Given the description of an element on the screen output the (x, y) to click on. 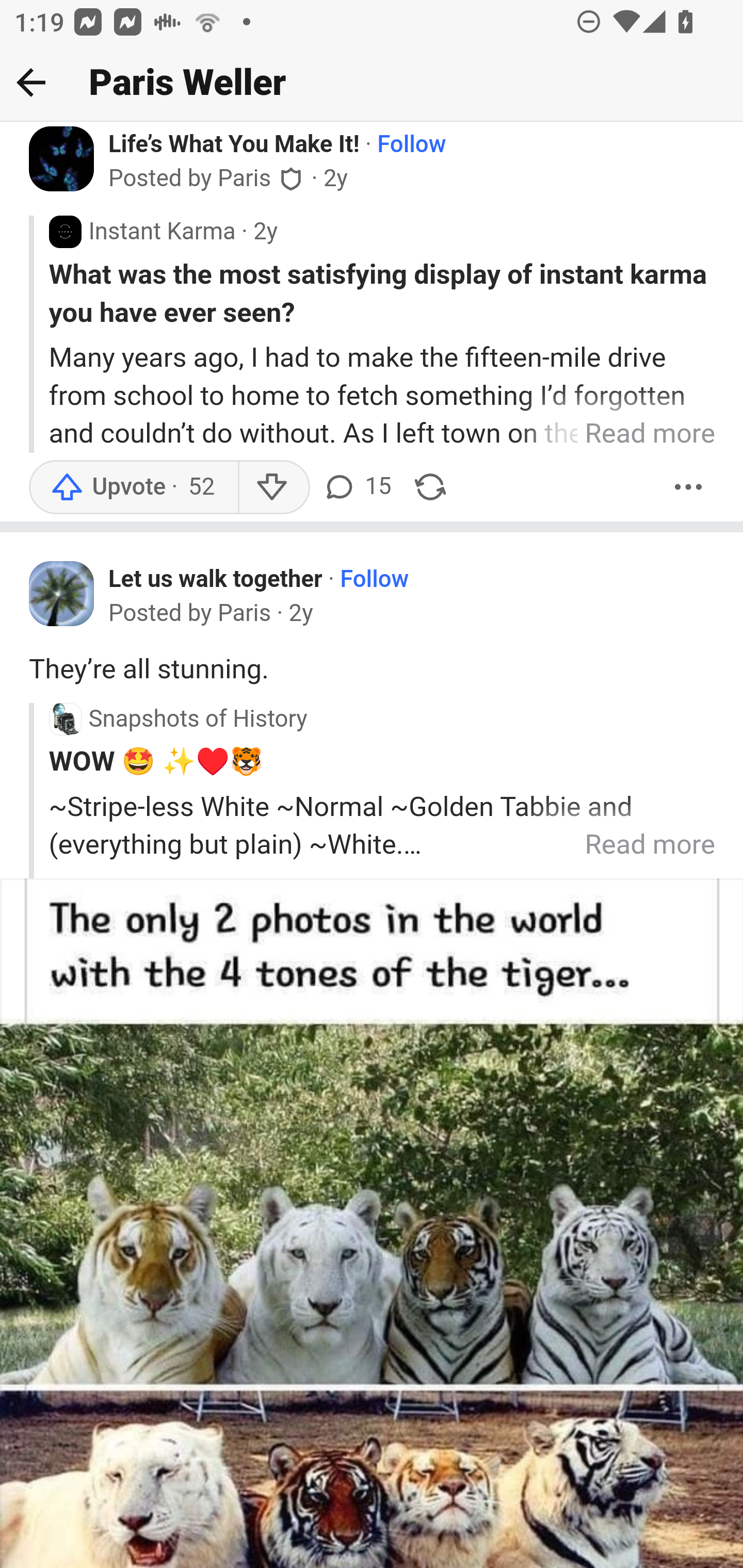
Back (30, 82)
Icon for Life’s What You Make It! (61, 160)
Life’s What You Make It! (234, 145)
Follow (411, 145)
Icon for Instant Karma (64, 234)
Upvote (133, 488)
Downvote (273, 488)
15 comments (359, 488)
Share (430, 488)
More (688, 488)
Icon for Let us walk together (61, 595)
Let us walk together (215, 580)
Follow (374, 581)
Icon for Snapshots of History (64, 719)
WOW 🤩 ✨♥️🐯 (381, 762)
